Given the description of an element on the screen output the (x, y) to click on. 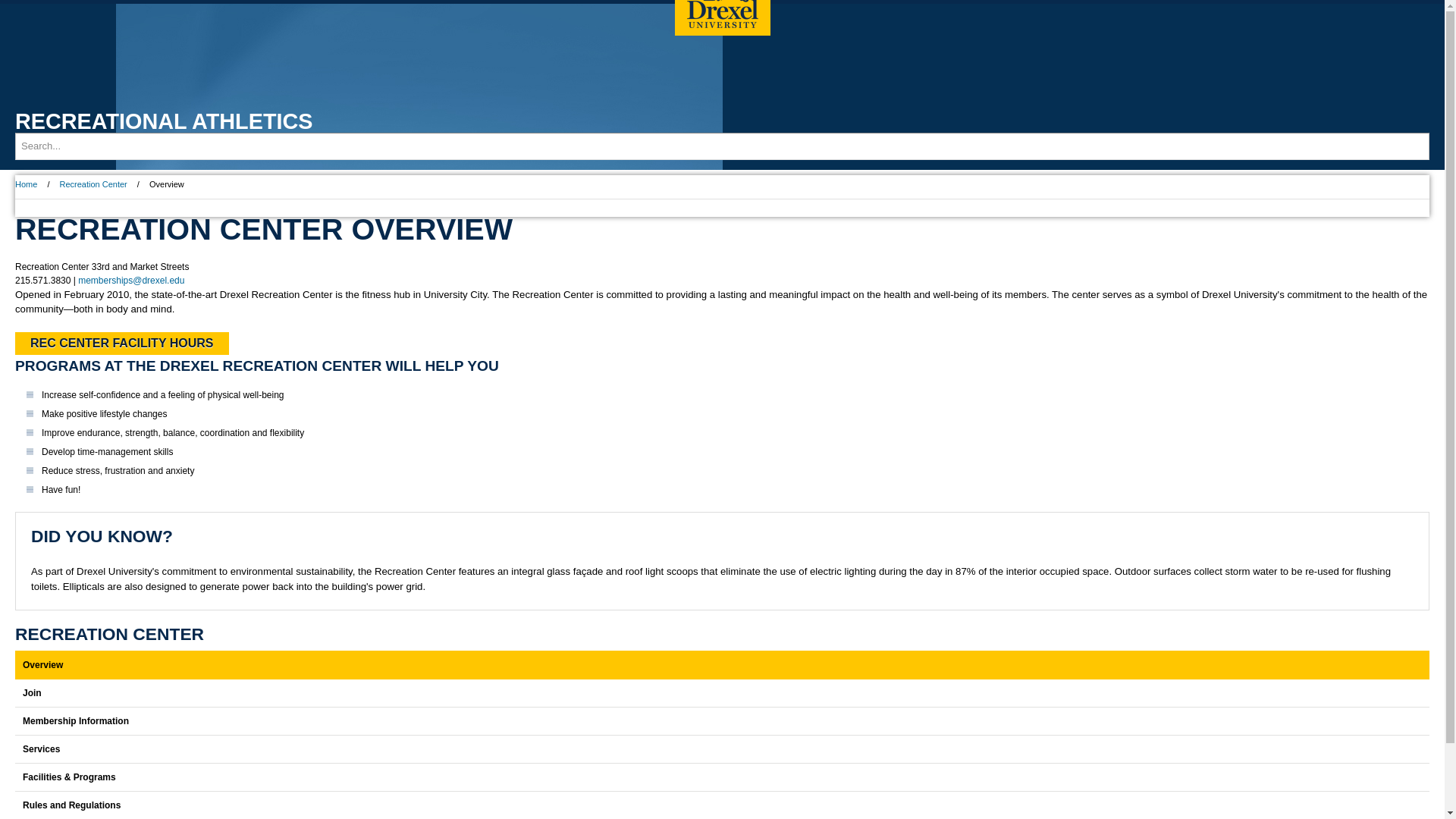
RECREATIONAL ATHLETICS (163, 120)
DREXEL UNIVERSITY (722, 18)
